Given the description of an element on the screen output the (x, y) to click on. 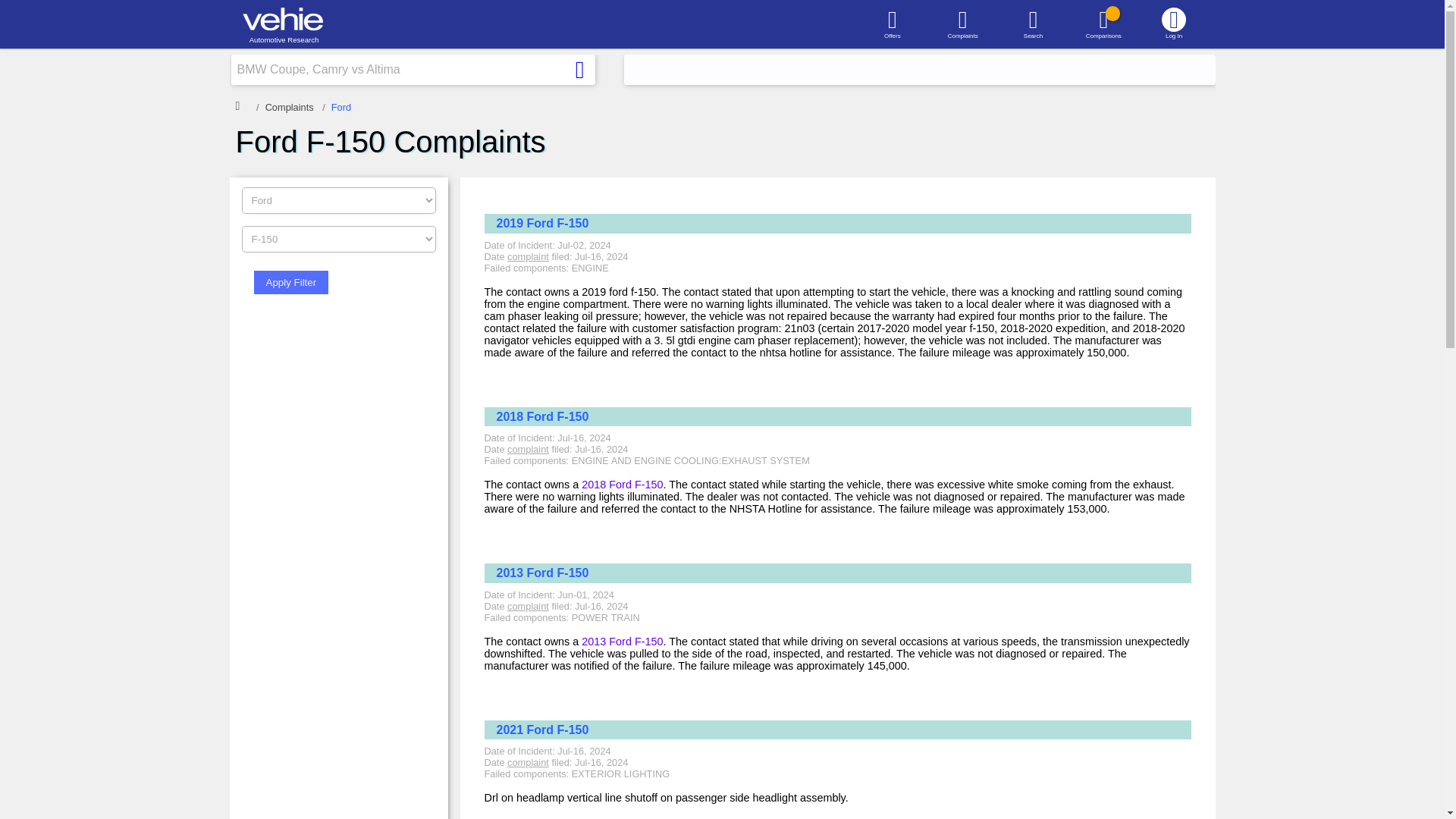
Vehie.com (240, 105)
2018 Ford F-150 (621, 484)
complaint (527, 605)
Complaints (962, 23)
Log In (1173, 23)
Offers (892, 23)
complaint (527, 256)
complaint (527, 762)
Vehie.com (282, 19)
2013 Ford F-150 (621, 641)
Ford (340, 107)
complaint (527, 449)
Complaints (289, 107)
Apply Filter (291, 282)
